Given the description of an element on the screen output the (x, y) to click on. 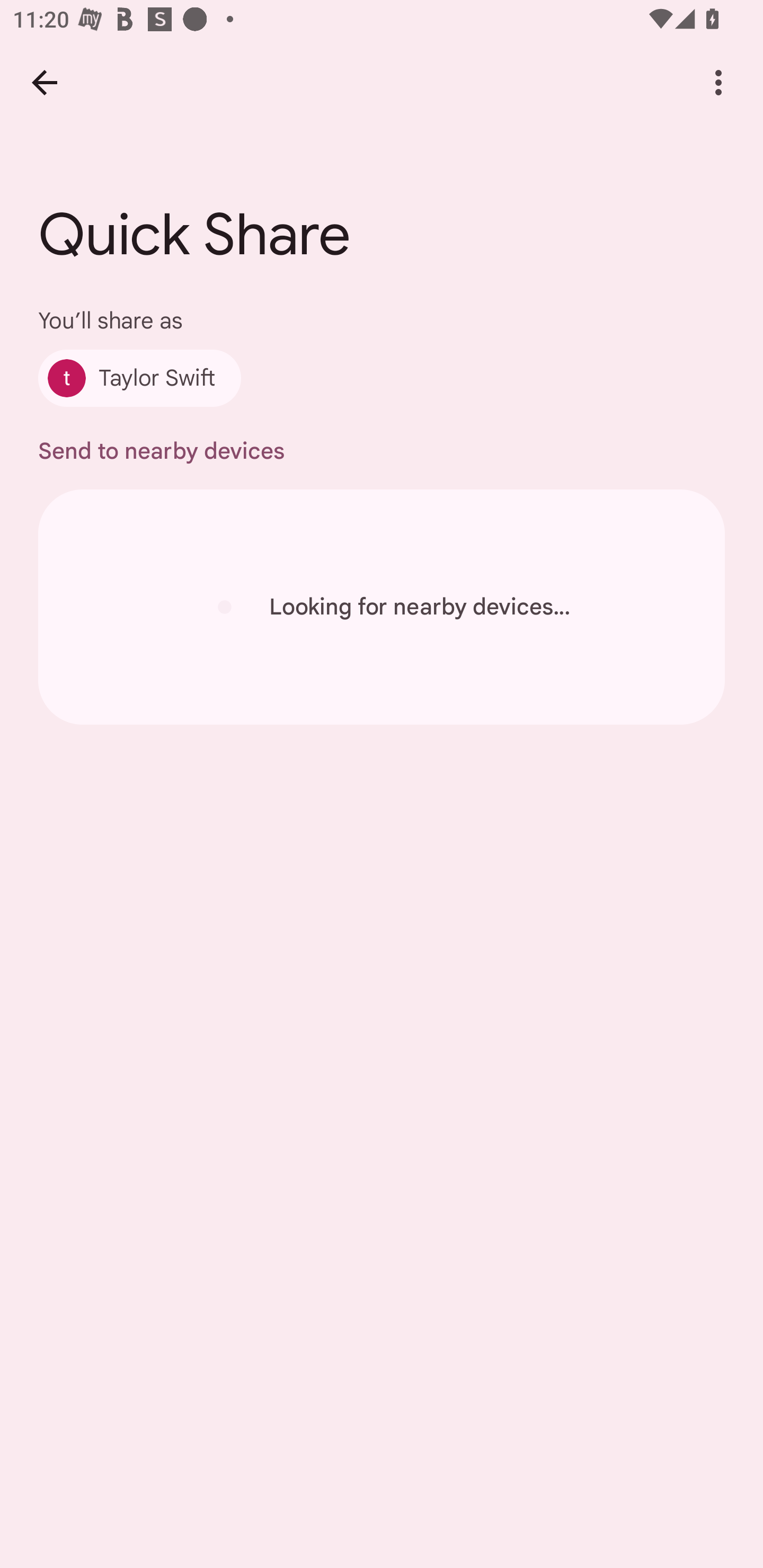
Back (44, 81)
More (718, 81)
Taylor Swift (139, 378)
